Given the description of an element on the screen output the (x, y) to click on. 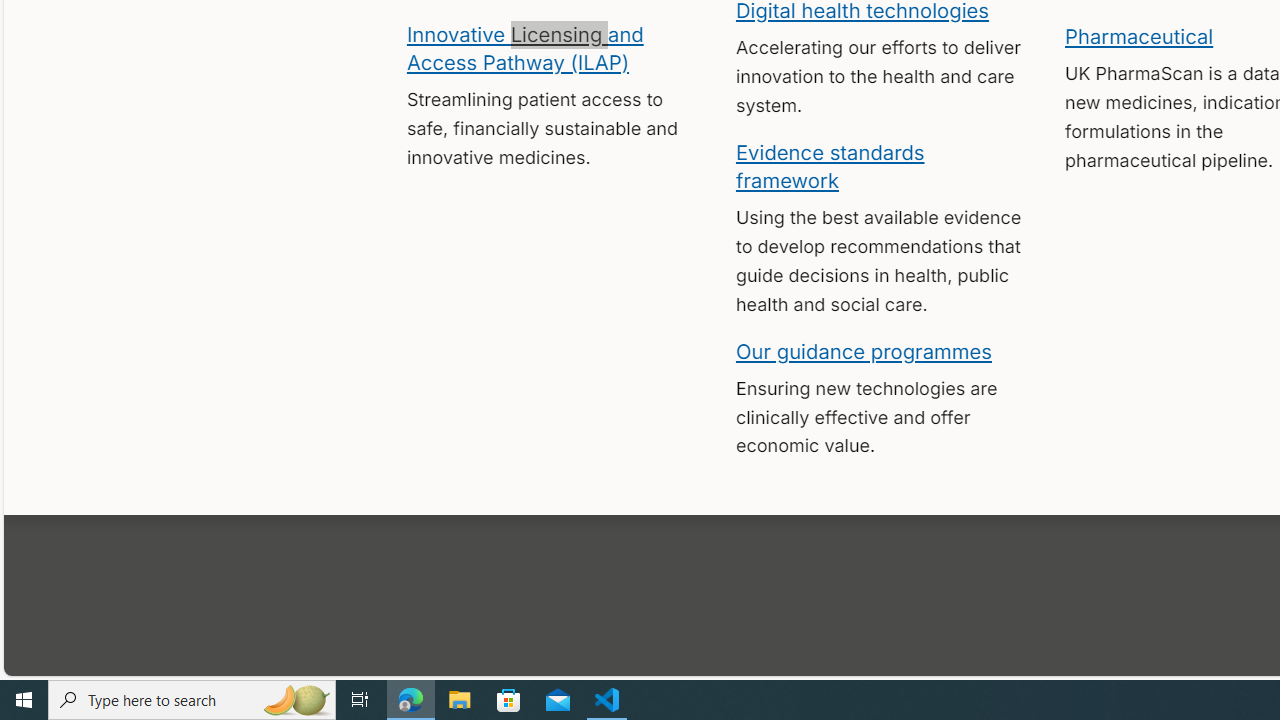
Pharmaceutical (1138, 35)
Our guidance programmes (863, 350)
Innovative Licensing and Access Pathway (ILAP) (524, 47)
Evidence standards framework (829, 165)
